Given the description of an element on the screen output the (x, y) to click on. 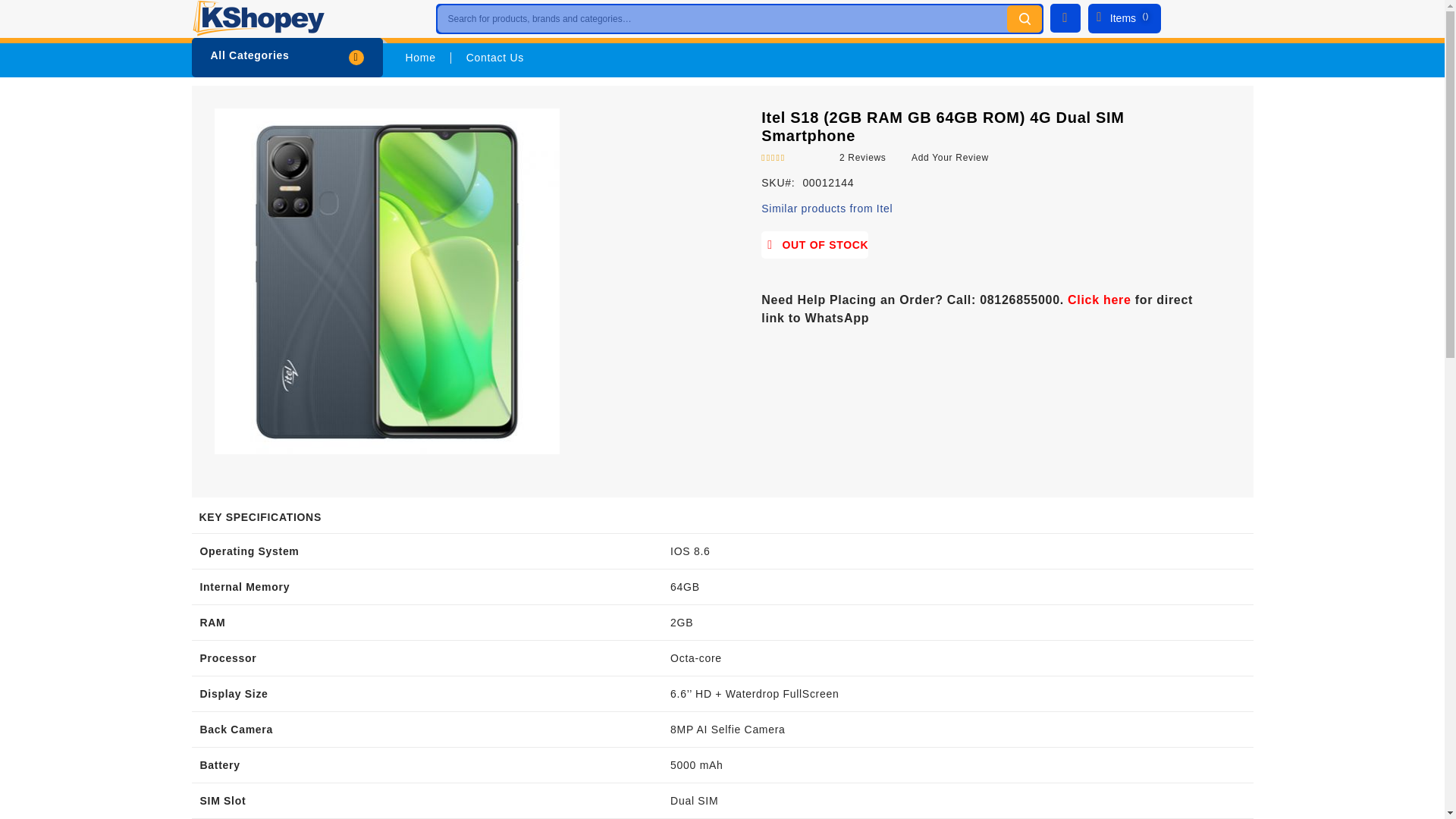
WhatsApp Chat (1099, 299)
Availability (814, 244)
Search (1024, 18)
KShopey.ng (256, 18)
Search (1024, 18)
